Given the description of an element on the screen output the (x, y) to click on. 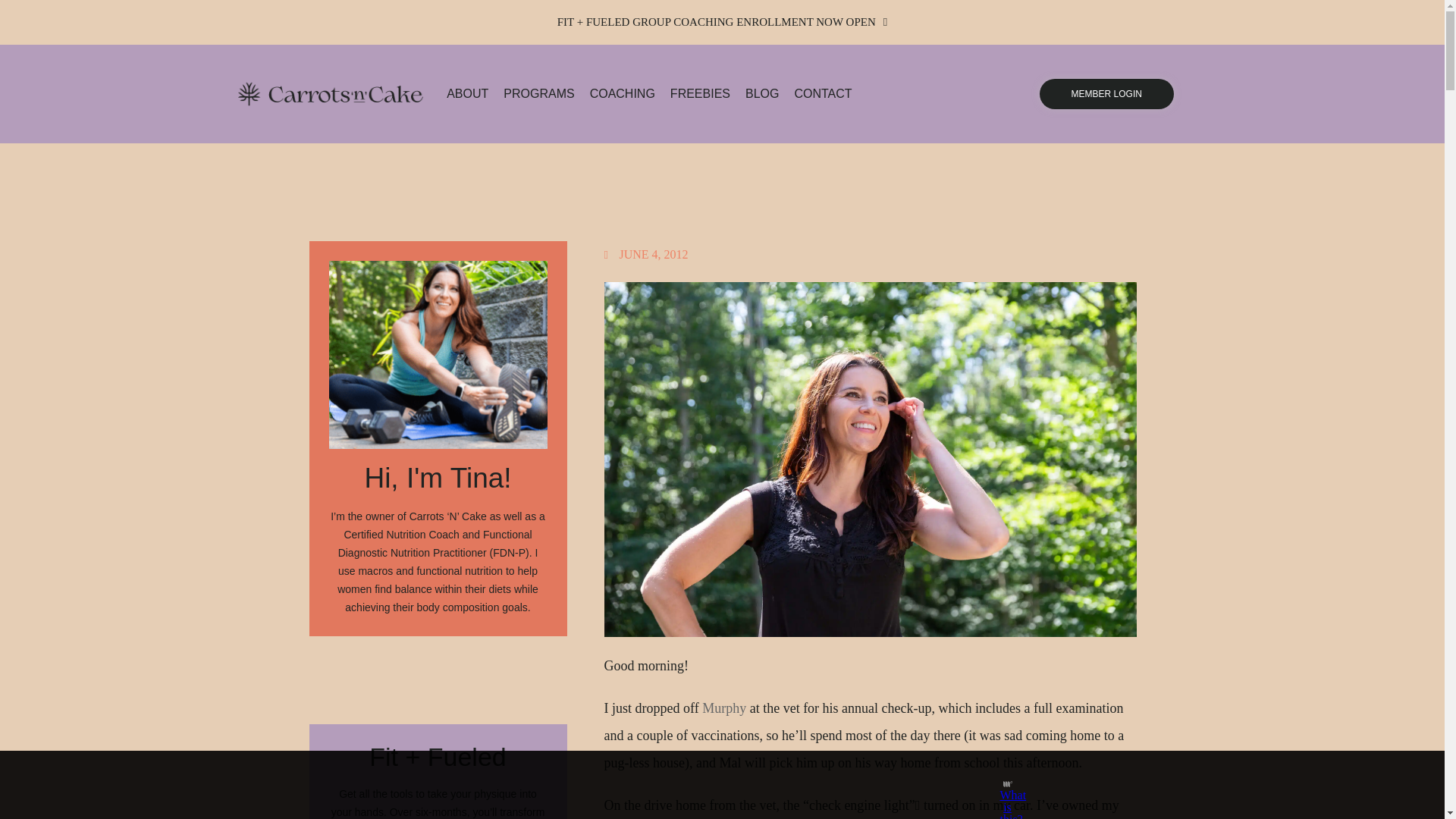
Rectangle 58 (438, 354)
3rd party ad content (708, 785)
